Given the description of an element on the screen output the (x, y) to click on. 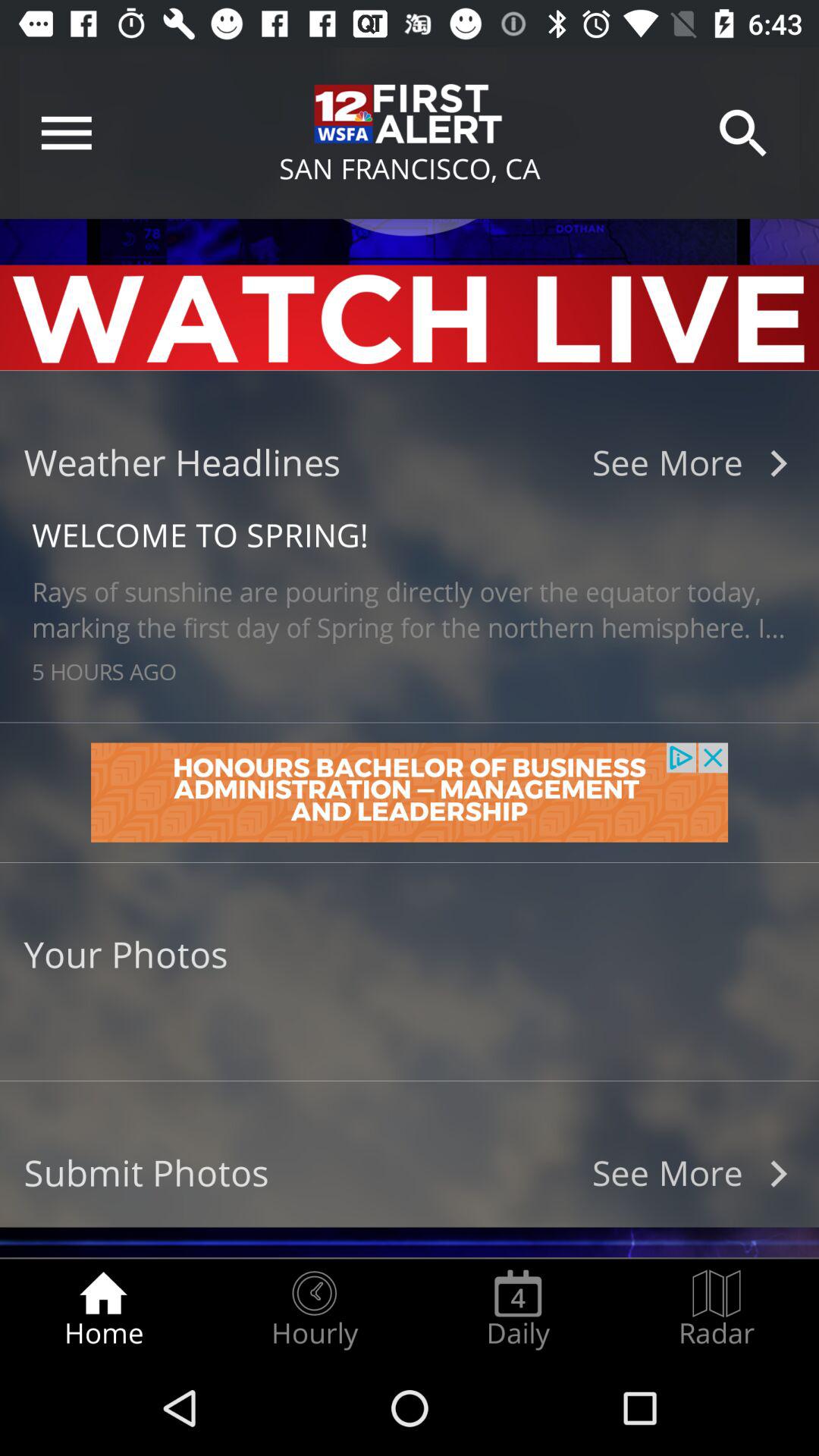
launch item next to the hourly icon (518, 1309)
